Given the description of an element on the screen output the (x, y) to click on. 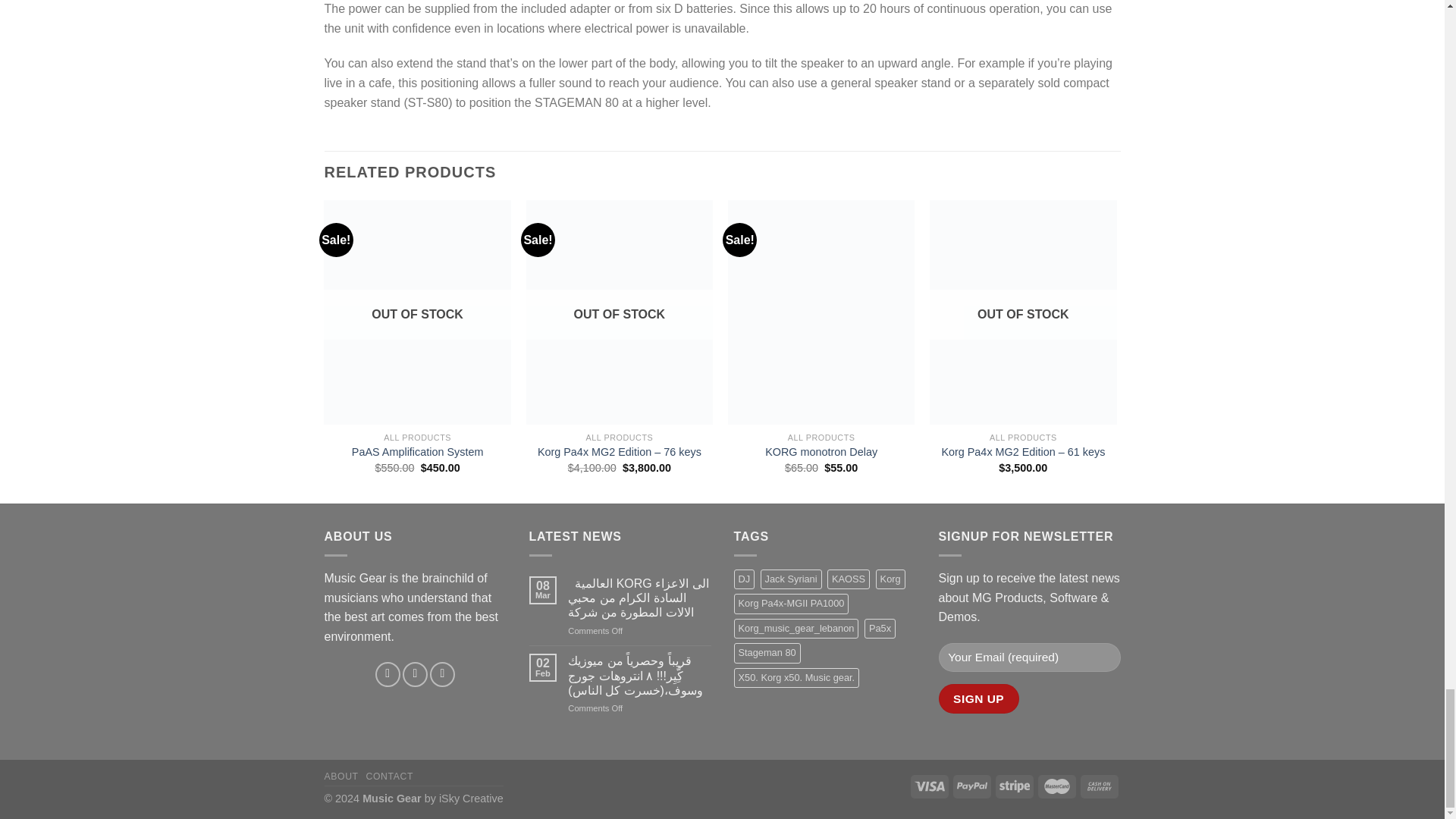
Follow on Facebook (387, 674)
Sign Up (979, 698)
Follow on Instagram (415, 674)
